Given the description of an element on the screen output the (x, y) to click on. 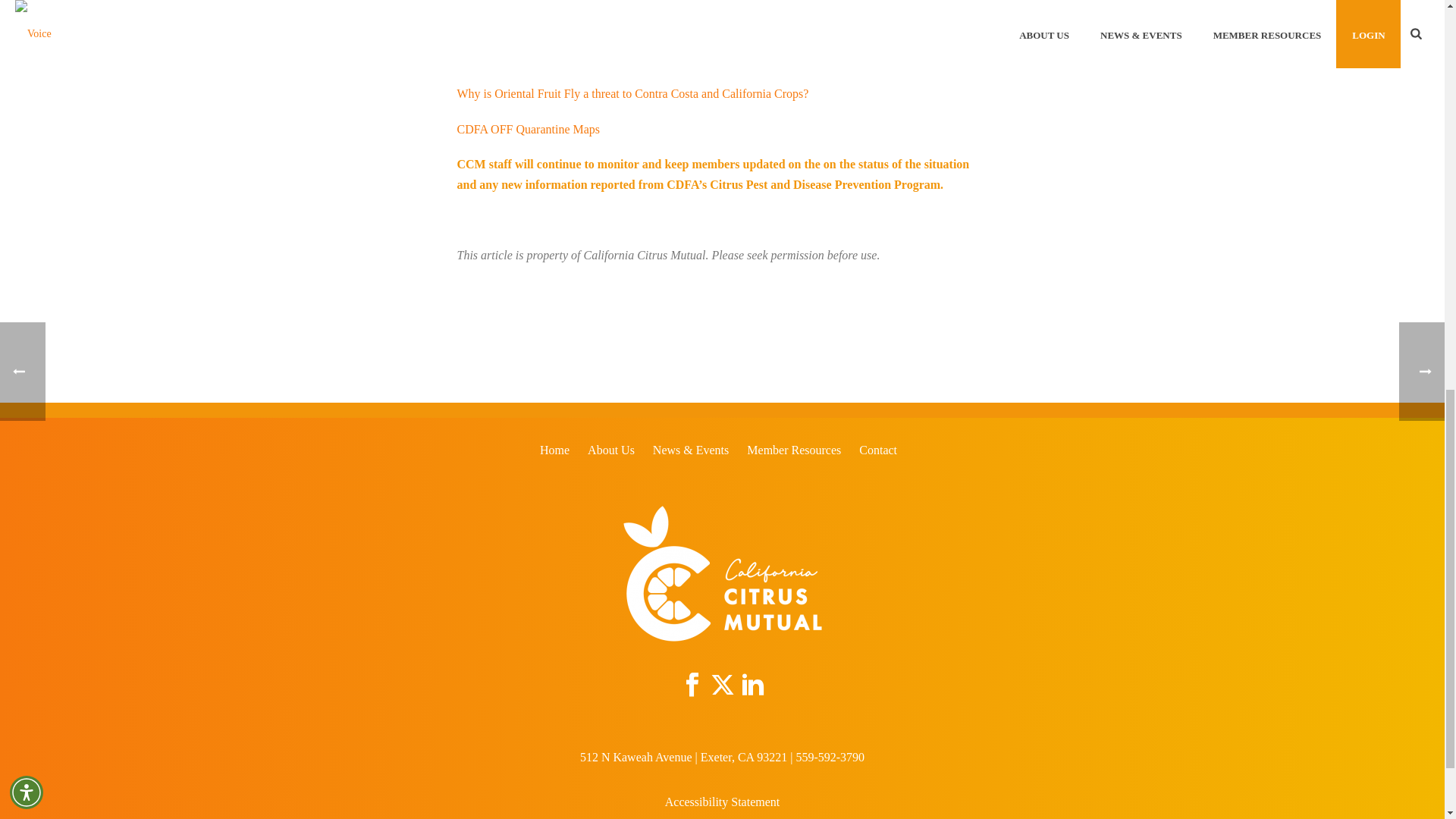
logo-white (721, 573)
